Given the description of an element on the screen output the (x, y) to click on. 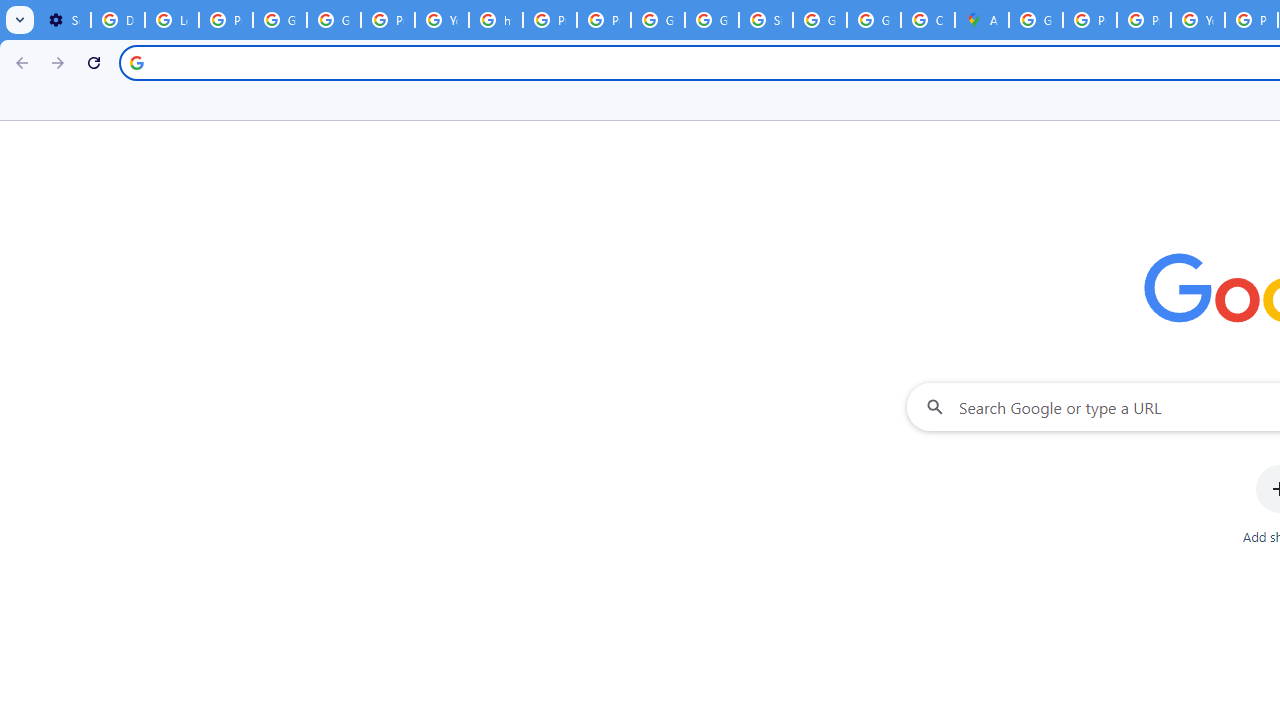
Sign in - Google Accounts (765, 20)
https://scholar.google.com/ (495, 20)
Google Account Help (280, 20)
YouTube (441, 20)
Create your Google Account (927, 20)
Privacy Help Center - Policies Help (1144, 20)
Learn how to find your photos - Google Photos Help (171, 20)
